Given the description of an element on the screen output the (x, y) to click on. 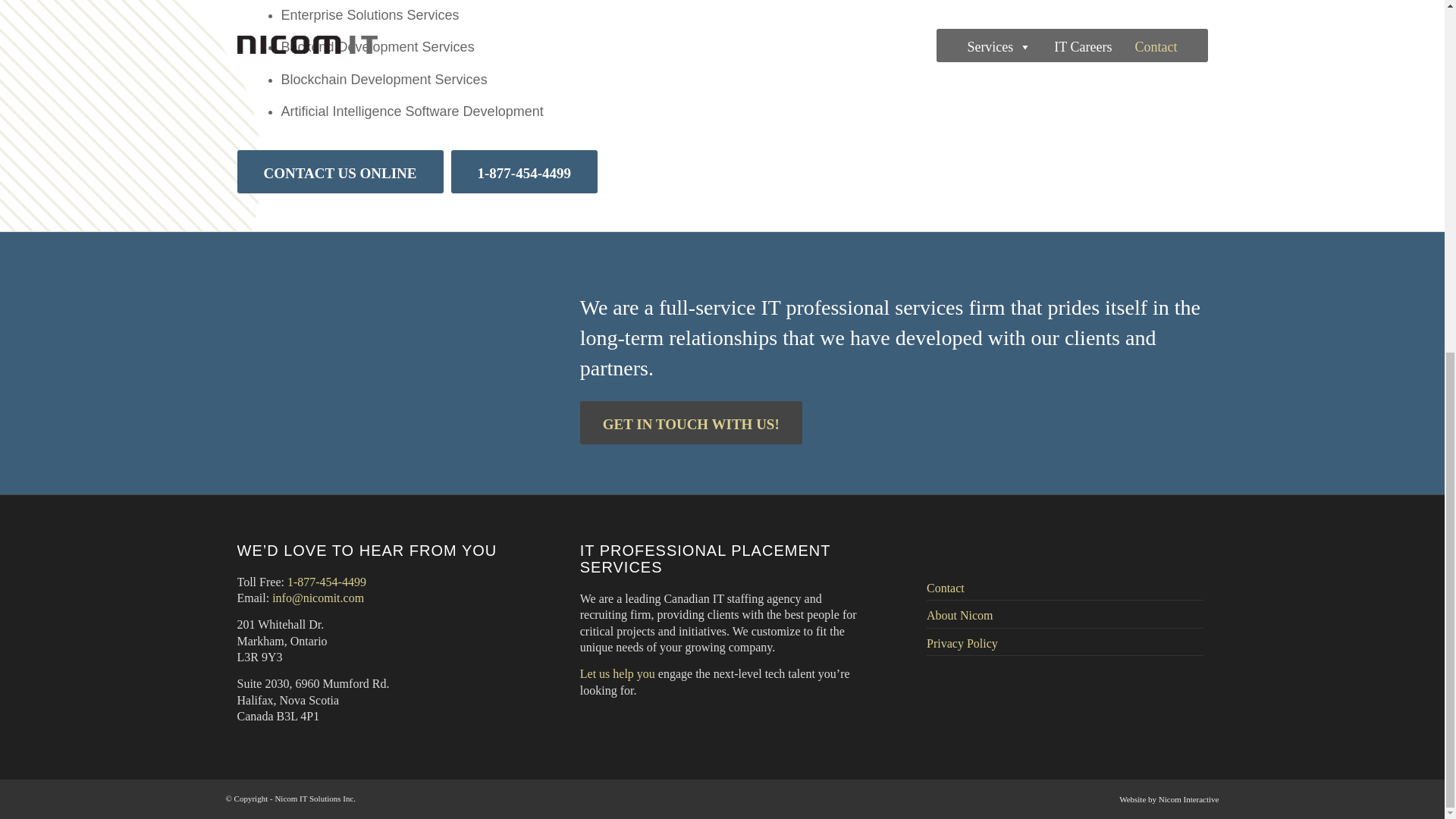
CONTACT US ONLINE (338, 170)
GET IN TOUCH WITH US! (690, 422)
1-877-454-4499 (523, 170)
1-877-454-4499 (326, 581)
